Given the description of an element on the screen output the (x, y) to click on. 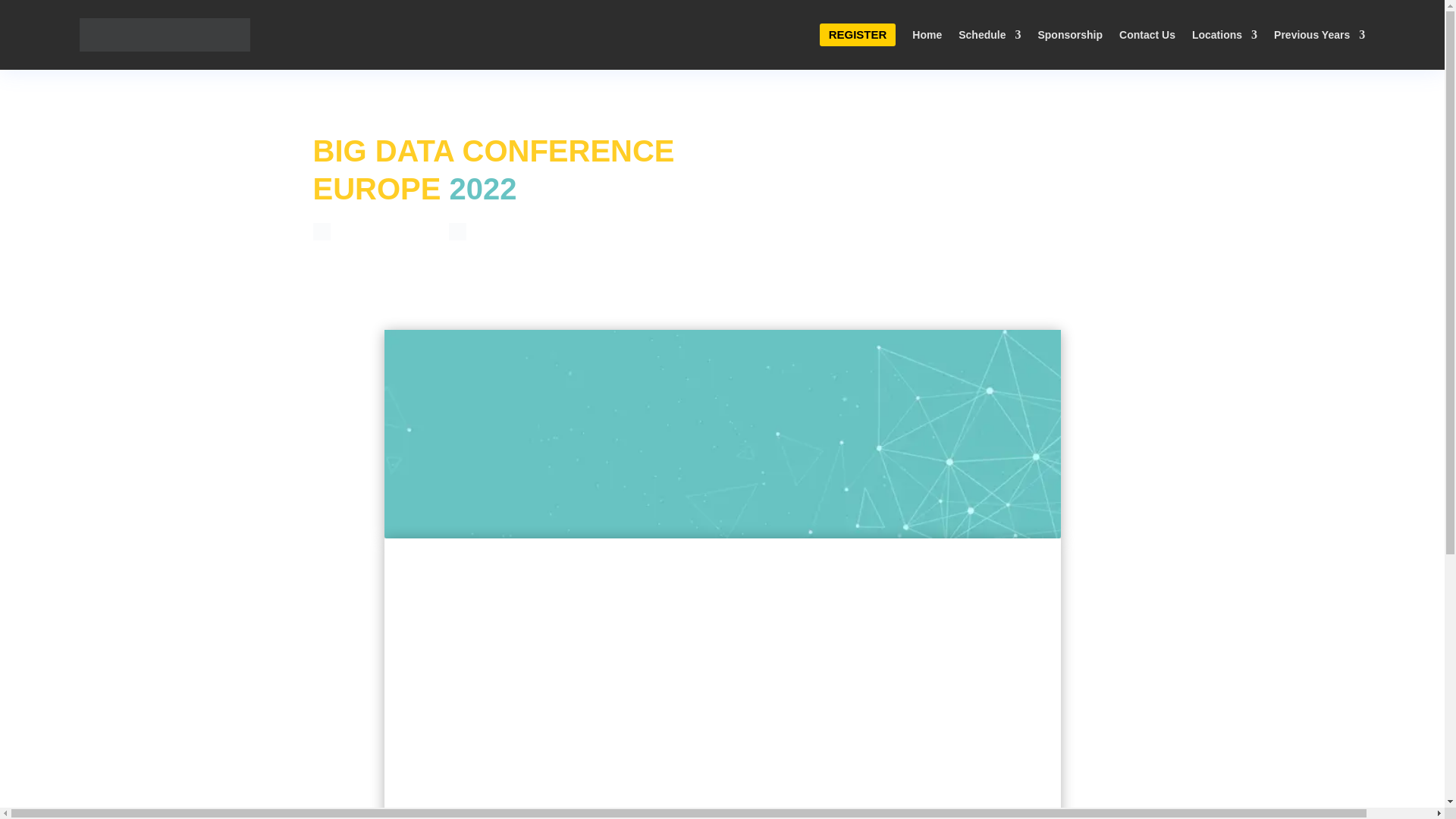
Previous Years (1319, 34)
Locations (1224, 34)
Sponsorship (1069, 34)
Schedule (989, 34)
REGISTER (857, 34)
